Given the description of an element on the screen output the (x, y) to click on. 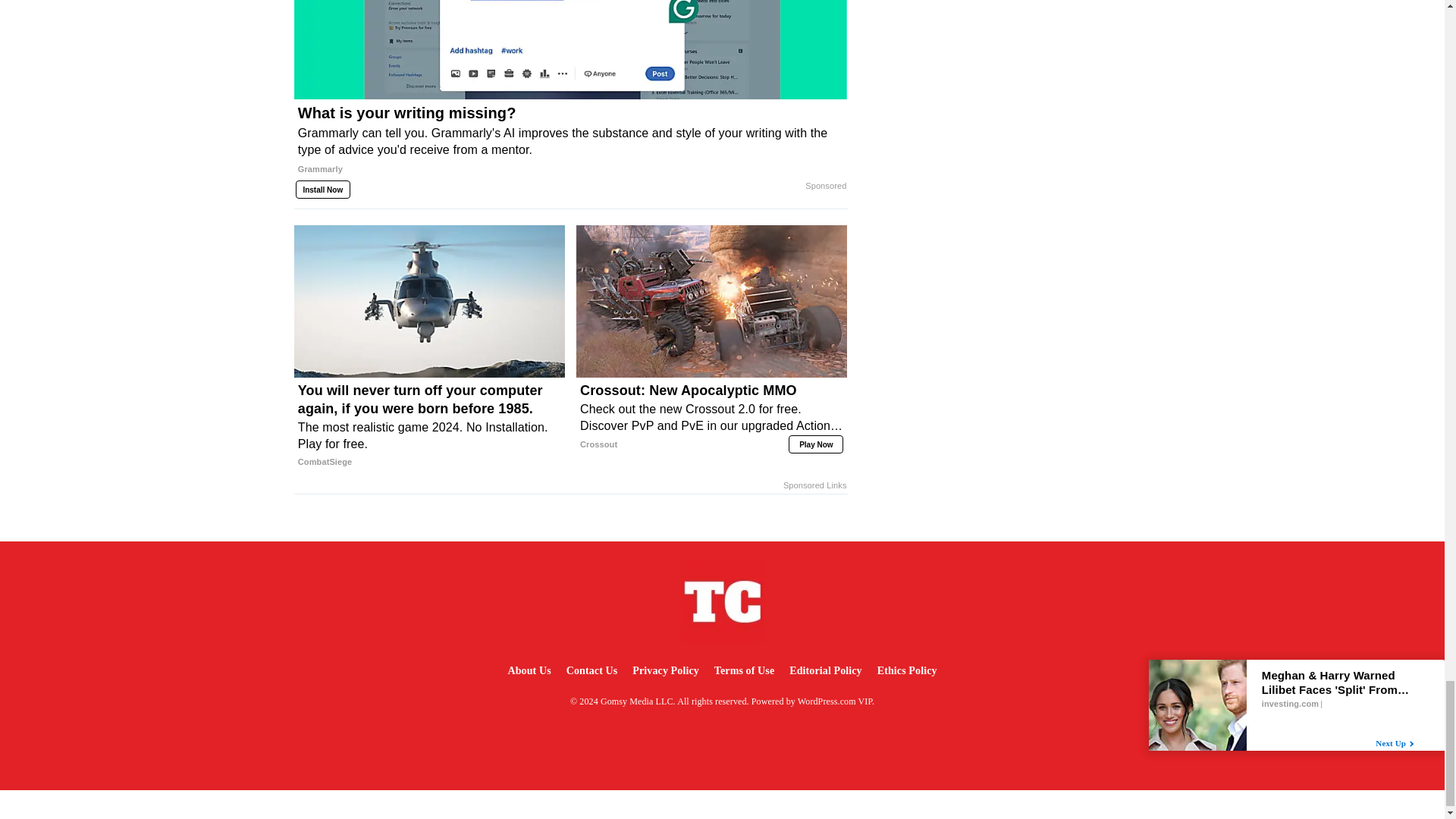
What is your writing missing? (570, 146)
Crossout: New Apocalyptic MMO (711, 417)
Sponsored (825, 186)
